Given the description of an element on the screen output the (x, y) to click on. 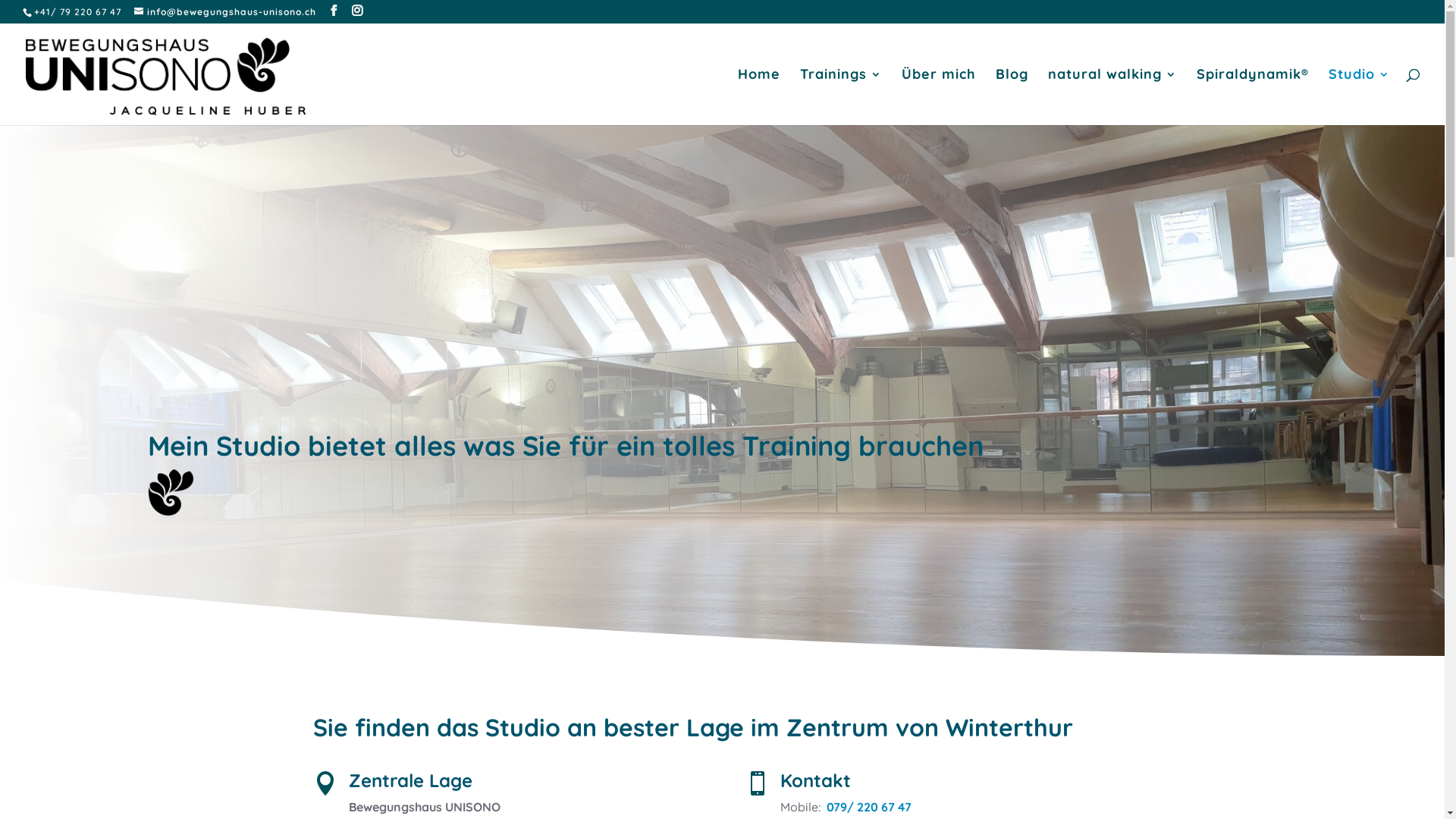
079/ 220 67 47 Element type: text (868, 806)
natural walking Element type: text (1112, 97)
Blog Element type: text (1011, 97)
Trainings Element type: text (840, 97)
Home Element type: text (758, 97)
info@bewegungshaus-unisono.ch Element type: text (225, 11)
Studio Element type: text (1359, 97)
